Given the description of an element on the screen output the (x, y) to click on. 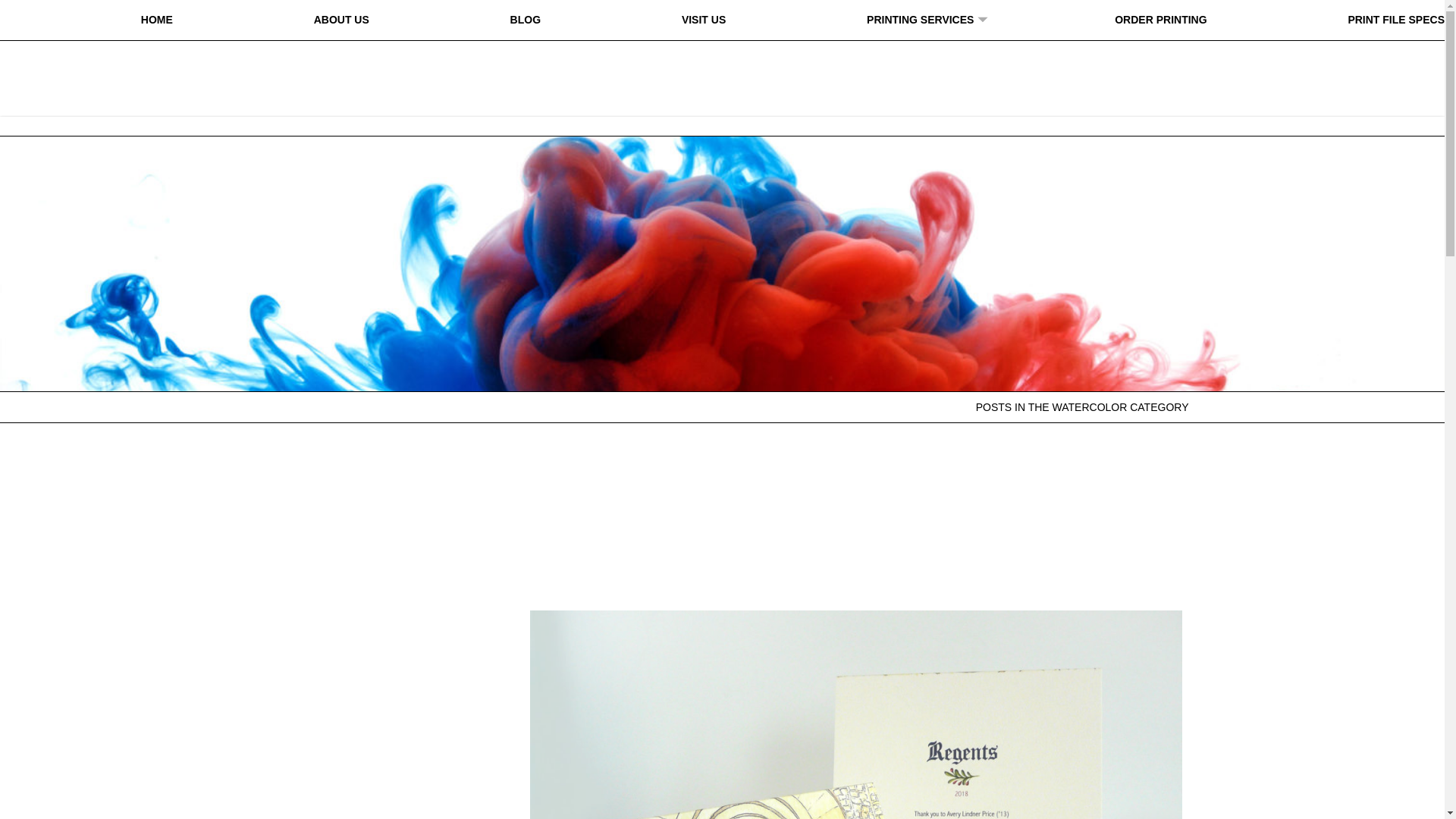
Global Printing Solutions (722, 68)
PRINTING SERVICES (920, 20)
VISIT US (703, 20)
ABOUT US (341, 20)
